Given the description of an element on the screen output the (x, y) to click on. 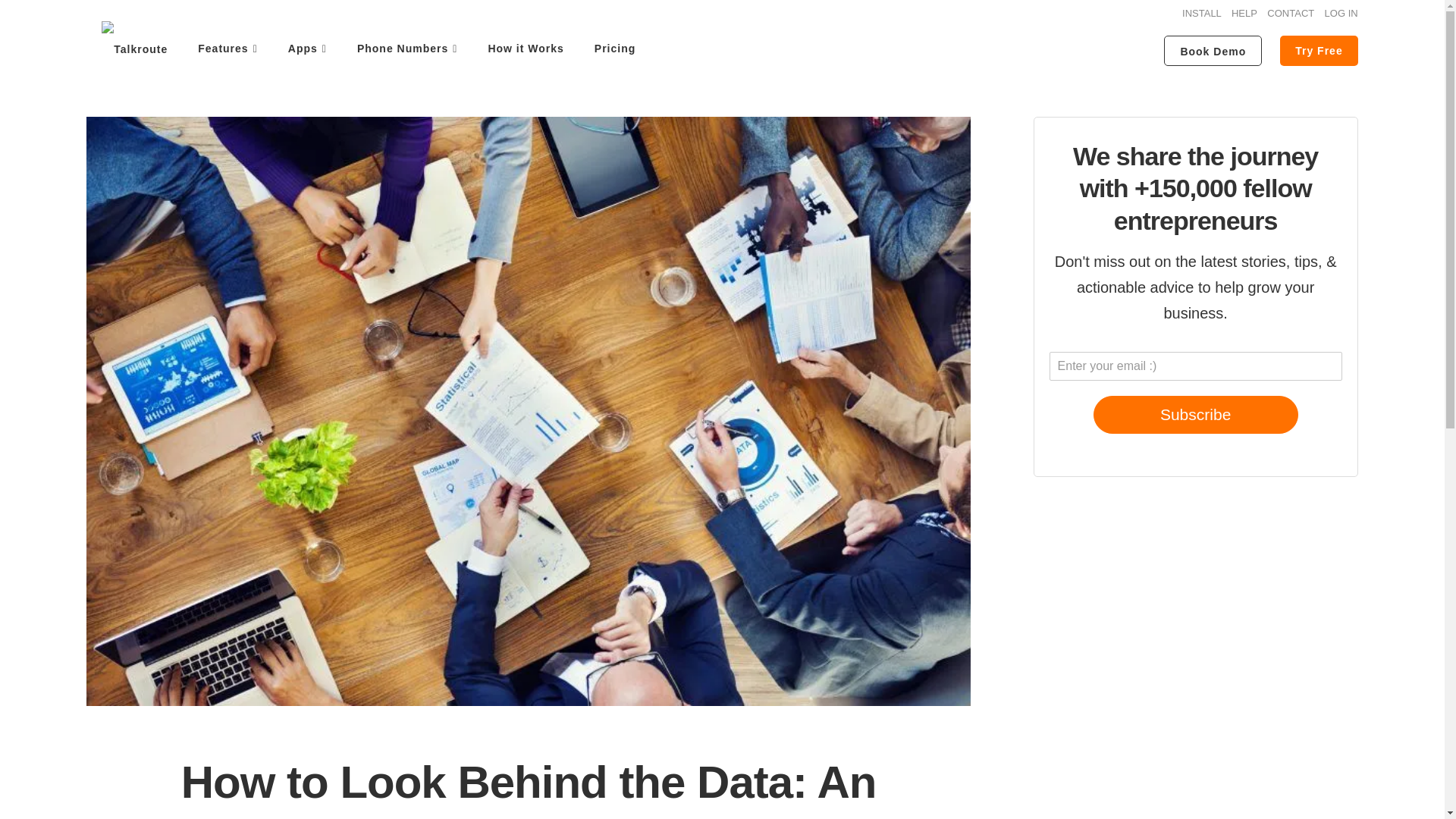
CONTACT (1290, 12)
Apps (307, 48)
LOG IN (1341, 12)
INSTALL (1201, 12)
Features (227, 48)
Phone Numbers (406, 48)
HELP (1244, 12)
